Given the description of an element on the screen output the (x, y) to click on. 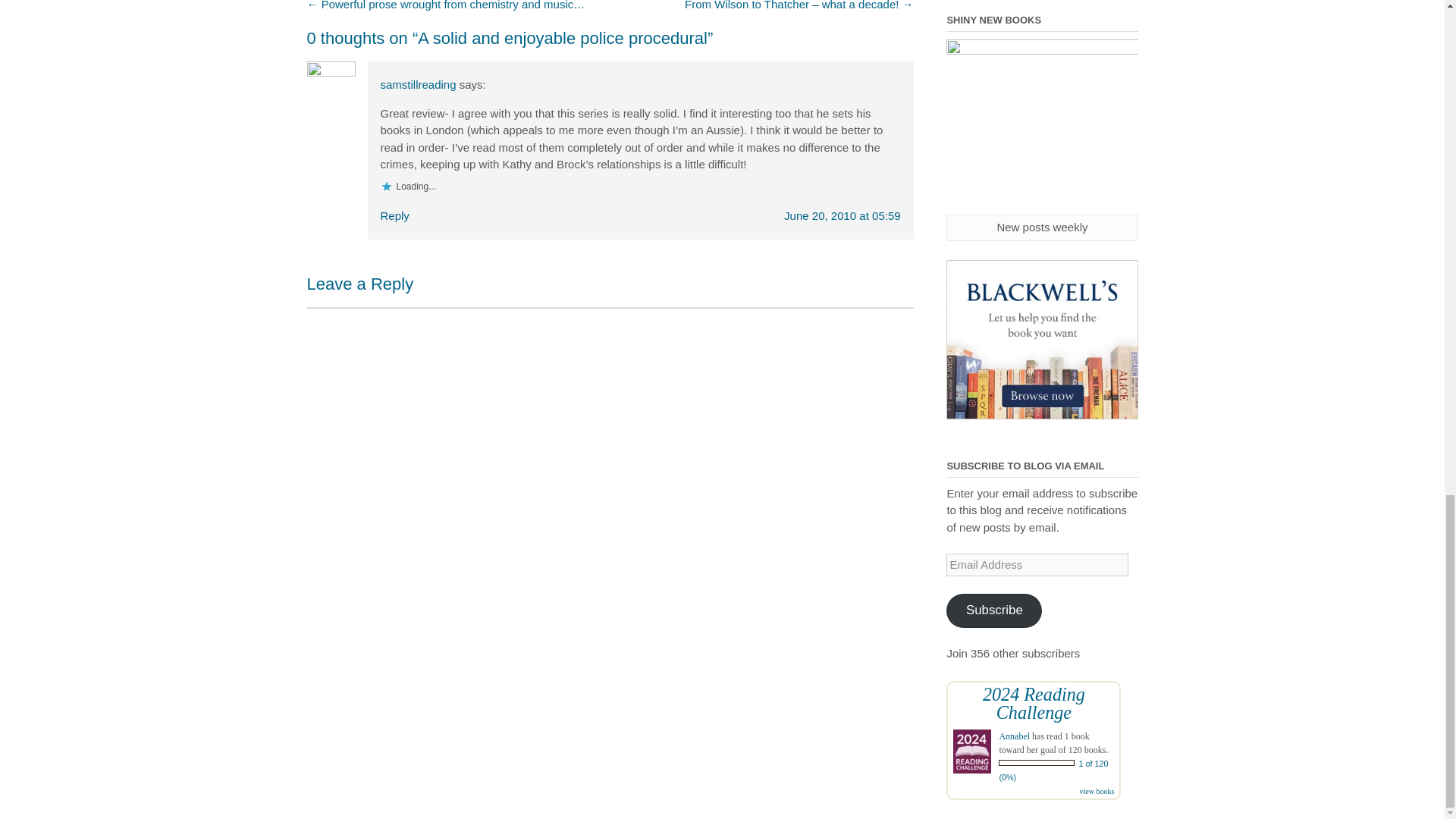
samstillreading (418, 83)
Reply (394, 215)
SHINY NEW BOOKS (1041, 126)
www.blackwells.co.uk (1041, 339)
